Given the description of an element on the screen output the (x, y) to click on. 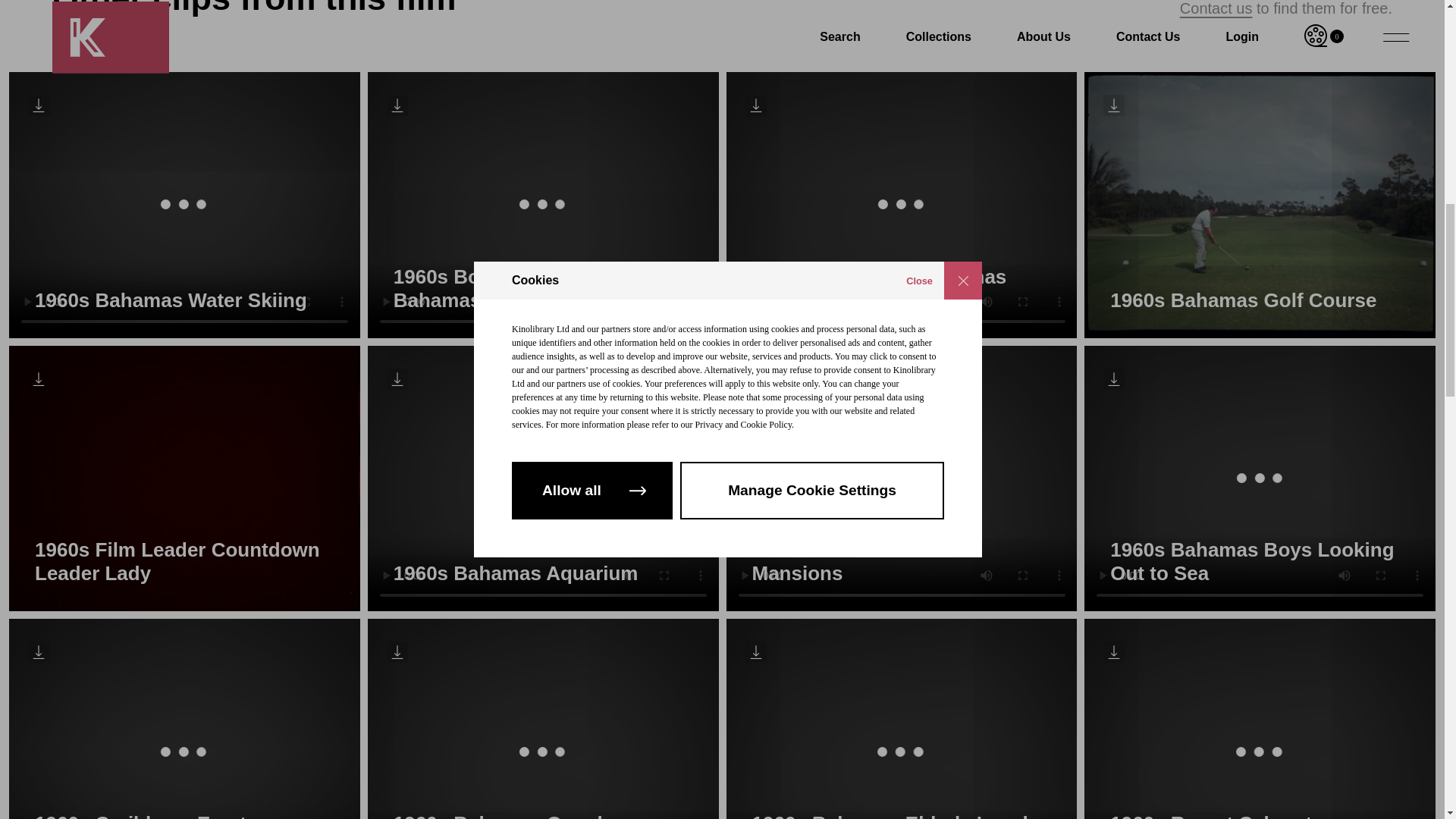
1960s Boeing 707 Landing at Bahamas Airport (543, 205)
1960s Bahamas Colonial Mansions (901, 478)
1960s Bahamas Water Skiing (183, 205)
1960s Bahamas Aquarium (543, 478)
1960s Caribbean Empty Tropical Beach (183, 719)
1960s Bahamas Couple Sunbathing on Beach (543, 719)
1960s Bahamas Golf Course (1259, 205)
Contact us (1215, 8)
1960s Bahamas Boys Looking Out to Sea (1259, 478)
1960s Film Leader Countdown Leader Lady (183, 478)
